Given the description of an element on the screen output the (x, y) to click on. 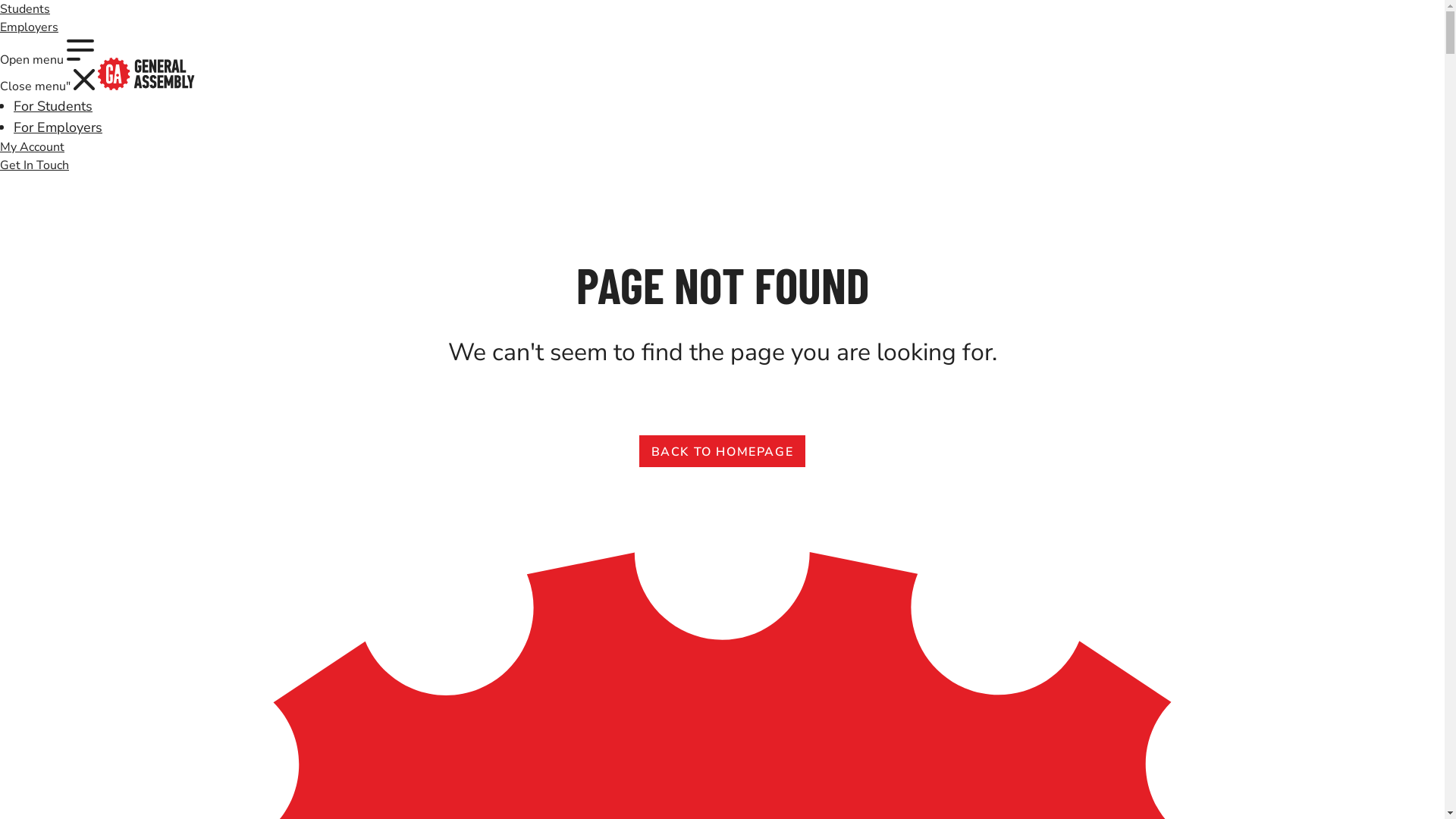
For Students (53, 106)
For Employers (57, 126)
BACK TO HOMEPAGE (722, 450)
My Account (32, 146)
Employers (29, 27)
Get In Touch (47, 65)
Students (34, 165)
